Given the description of an element on the screen output the (x, y) to click on. 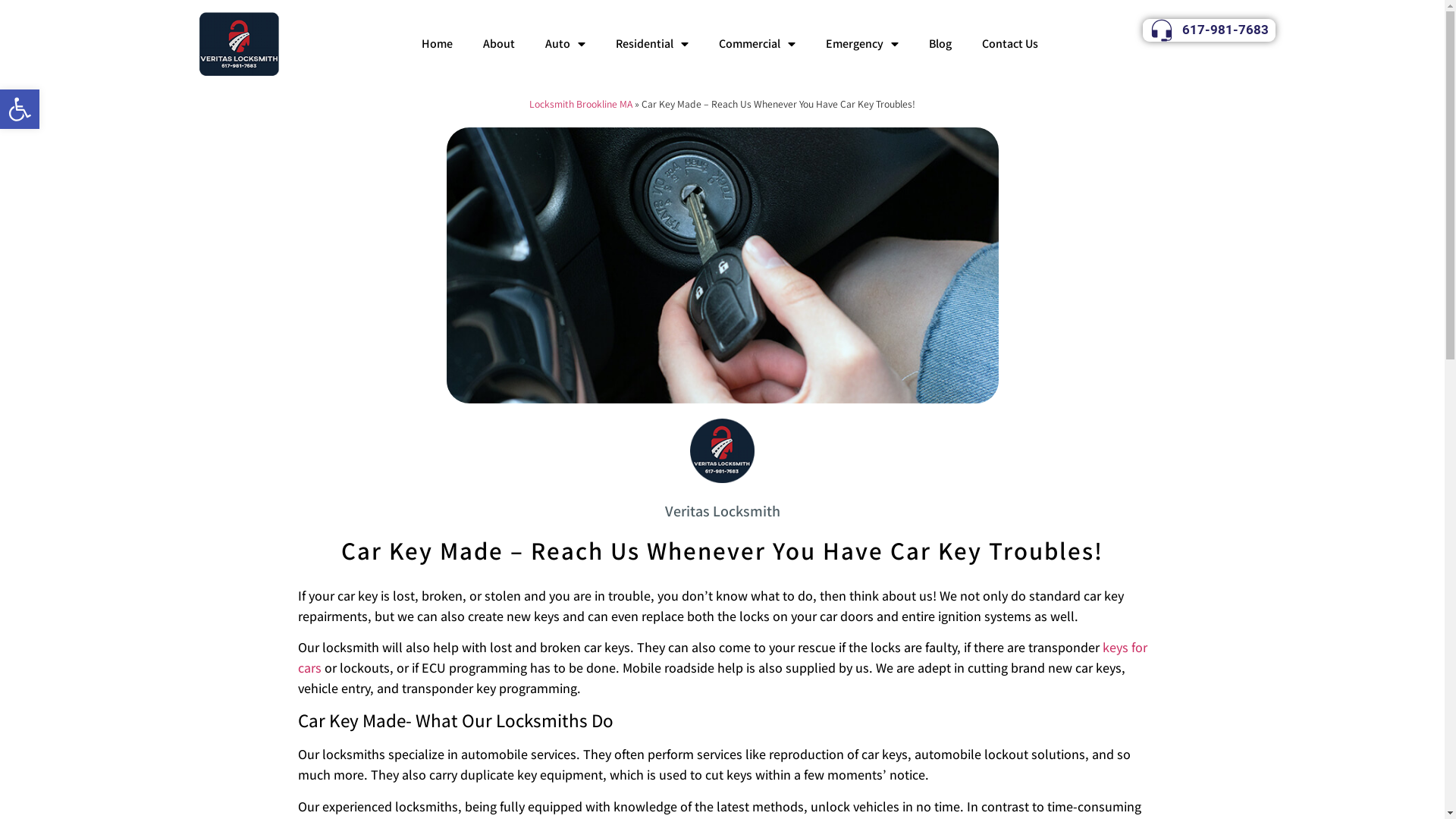
Commercial Element type: text (756, 43)
Locksmith Brookline MA Element type: text (580, 103)
Open toolbar
Accessibility Tools Element type: text (19, 108)
About Element type: text (498, 43)
Blog Element type: text (939, 43)
Veritas Locksmith Element type: text (721, 511)
keys for cars Element type: text (721, 657)
Auto Element type: text (565, 43)
617-981-7683 Element type: text (1208, 29)
Residential Element type: text (651, 43)
Emergency Element type: text (861, 43)
Home Element type: text (436, 43)
Contact Us Element type: text (1009, 43)
